Given the description of an element on the screen output the (x, y) to click on. 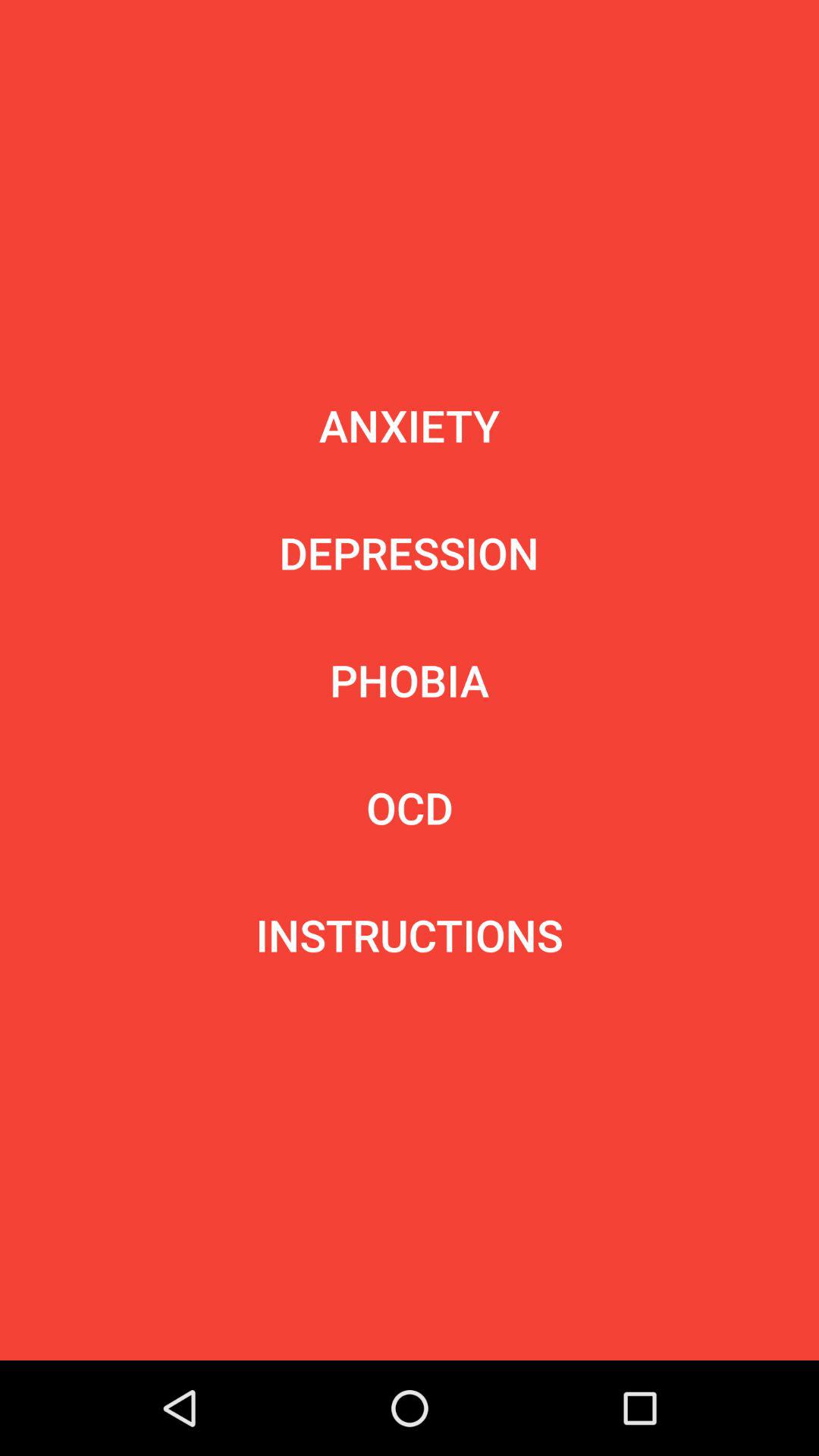
jump to instructions icon (409, 934)
